Given the description of an element on the screen output the (x, y) to click on. 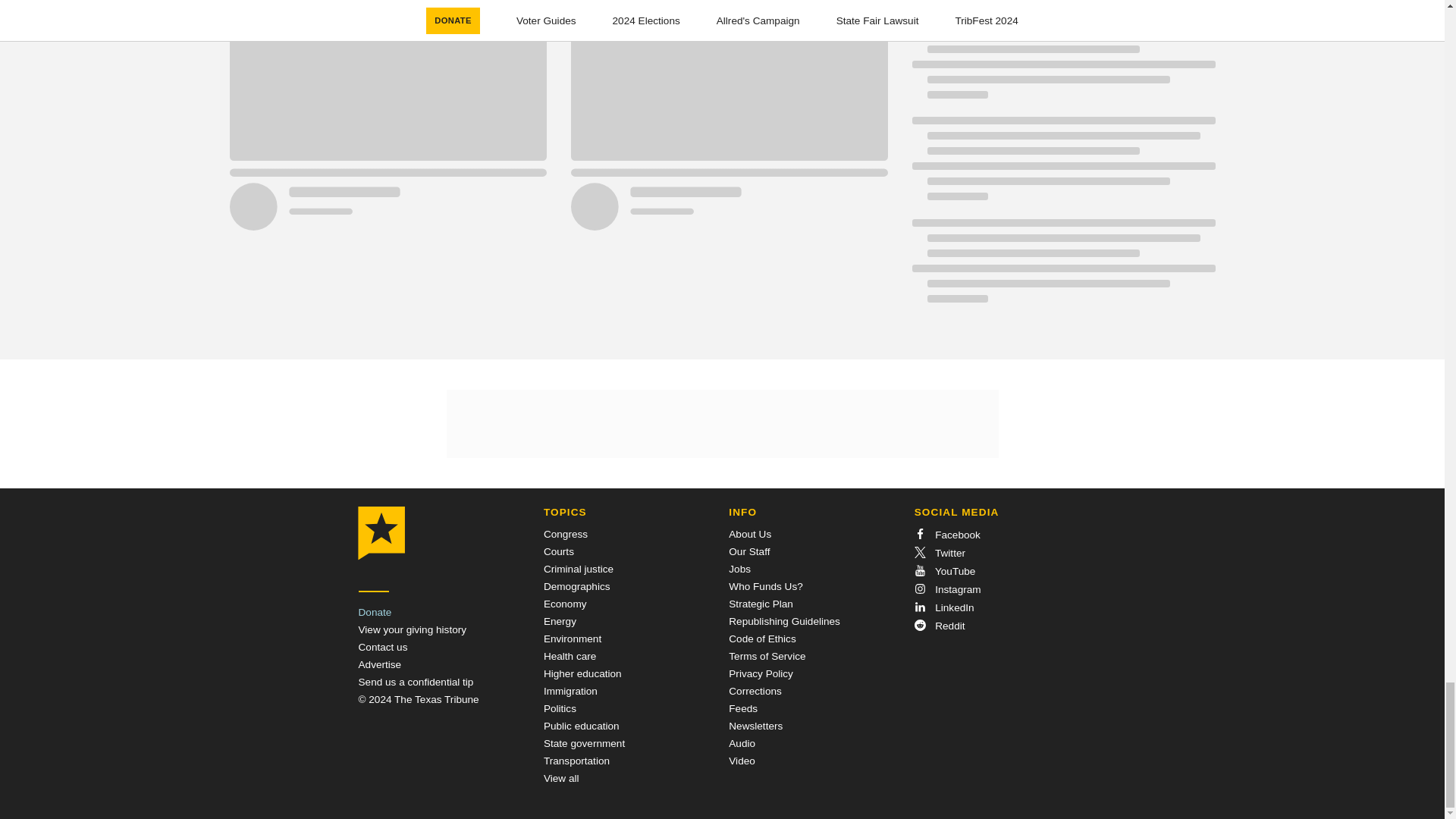
Terms of Service (767, 655)
View your giving history (411, 629)
Send a Tip (415, 681)
Facebook (946, 534)
Video (742, 760)
Donate (374, 612)
About Us (750, 533)
Code of Ethics (761, 638)
Privacy Policy (761, 673)
Contact us (382, 646)
